Given the description of an element on the screen output the (x, y) to click on. 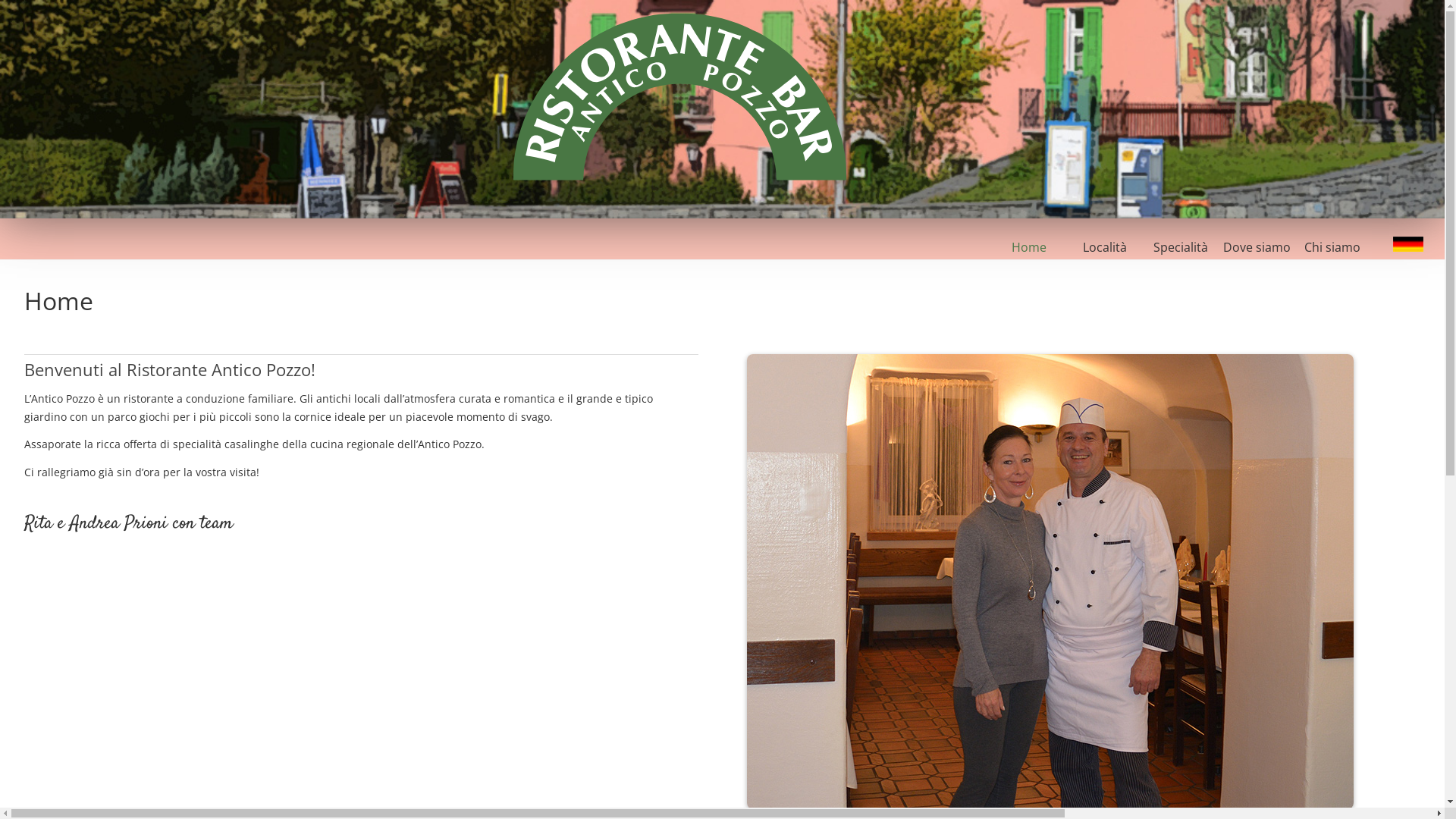
Dove siamo Element type: text (1256, 247)
Home Element type: text (1028, 247)
Chi siamo Element type: text (1331, 247)
